Given the description of an element on the screen output the (x, y) to click on. 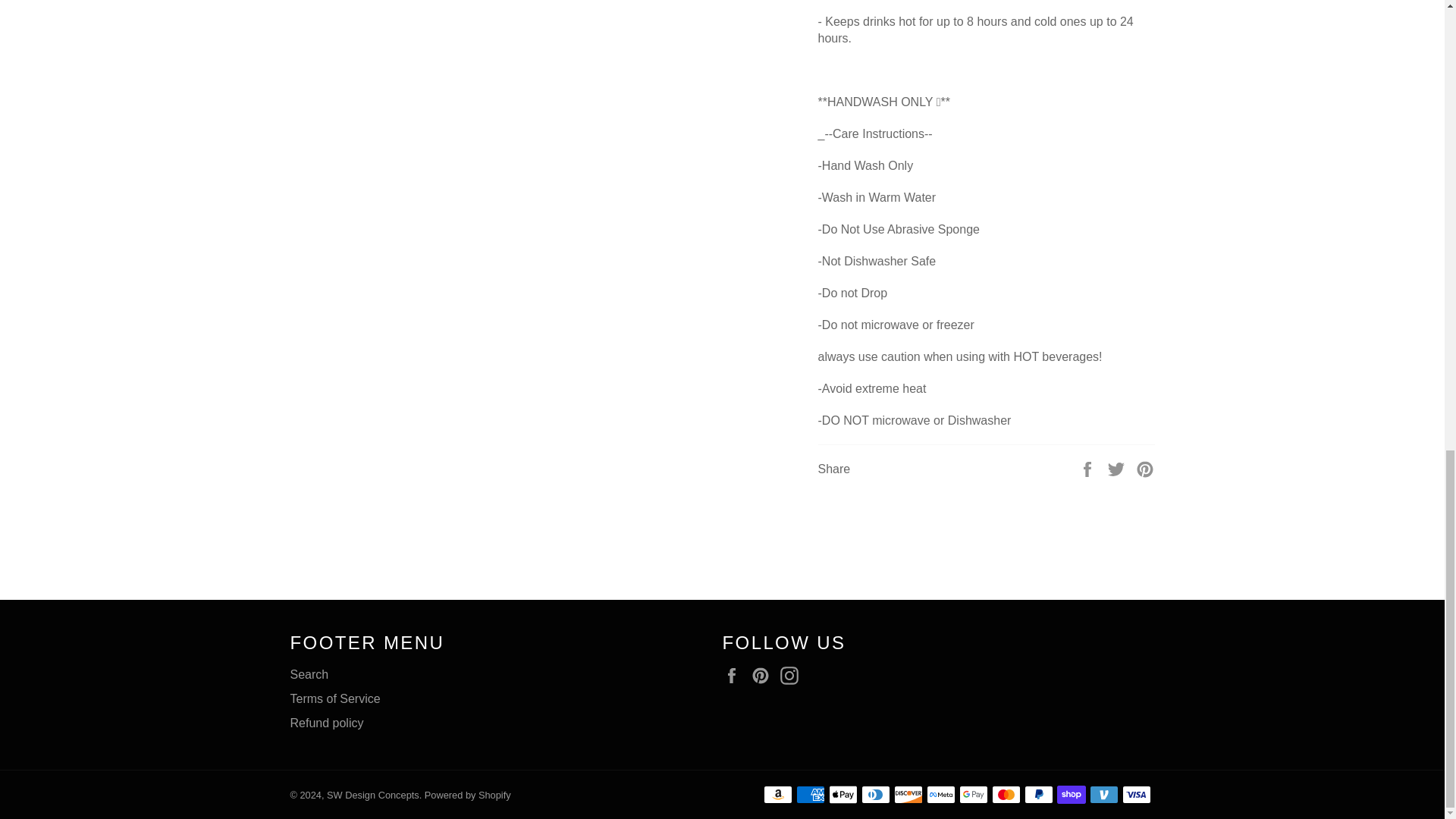
Pin on Pinterest (1144, 468)
SW Design Concepts on Facebook (735, 675)
Pin on Pinterest (1144, 468)
Powered by Shopify (468, 794)
SW Design Concepts (372, 794)
Refund policy (325, 722)
Tweet on Twitter (1117, 468)
Share on Facebook (1088, 468)
Tweet on Twitter (1117, 468)
Search (309, 674)
Share on Facebook (1088, 468)
Pinterest (764, 675)
Facebook (735, 675)
SW Design Concepts on Instagram (793, 675)
Terms of Service (334, 698)
